Given the description of an element on the screen output the (x, y) to click on. 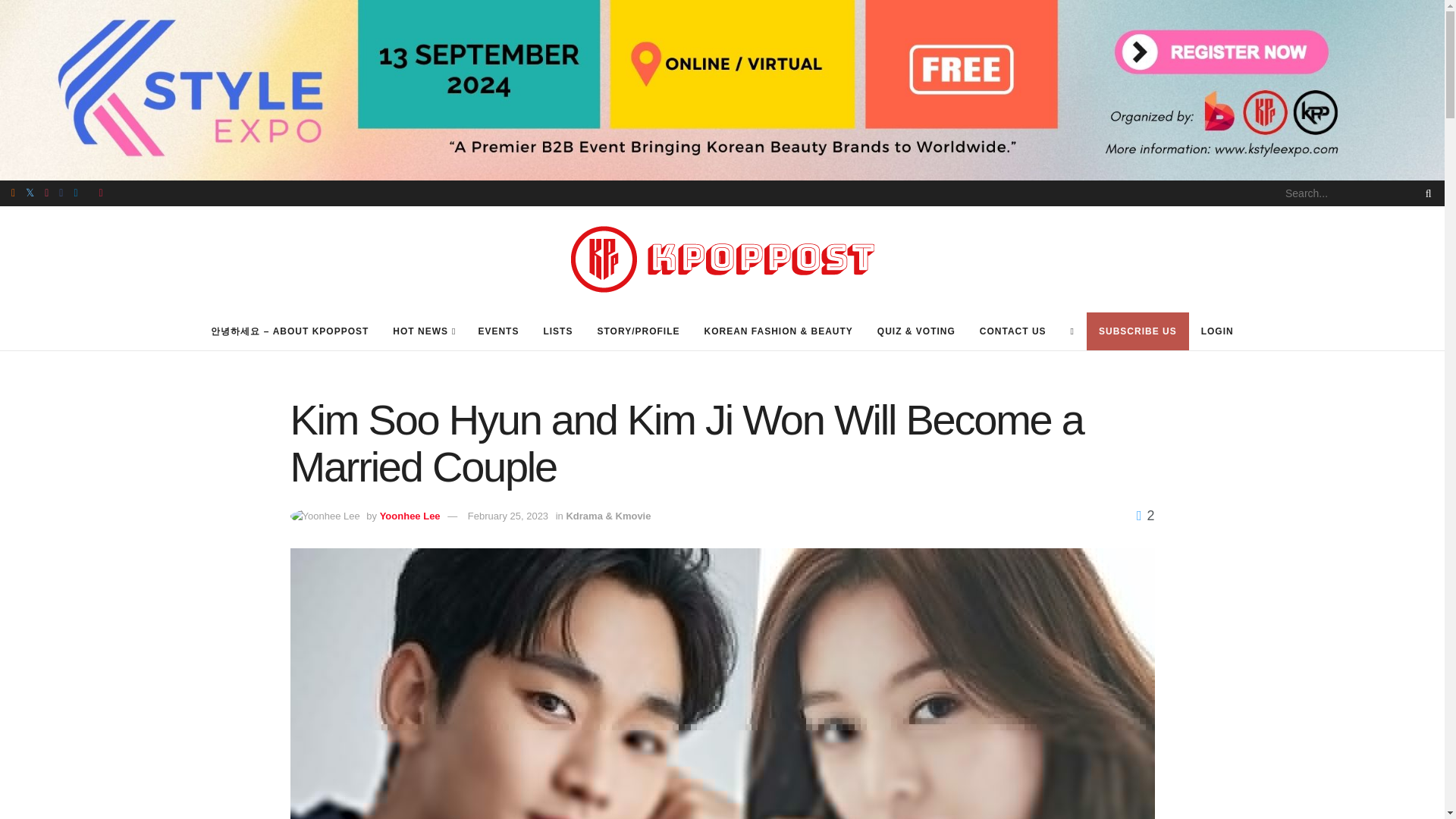
EVENTS (498, 331)
SUBSCRIBE US (1137, 331)
LISTS (558, 331)
HOT NEWS (422, 331)
LOGIN (1217, 331)
CONTACT US (1013, 331)
